Given the description of an element on the screen output the (x, y) to click on. 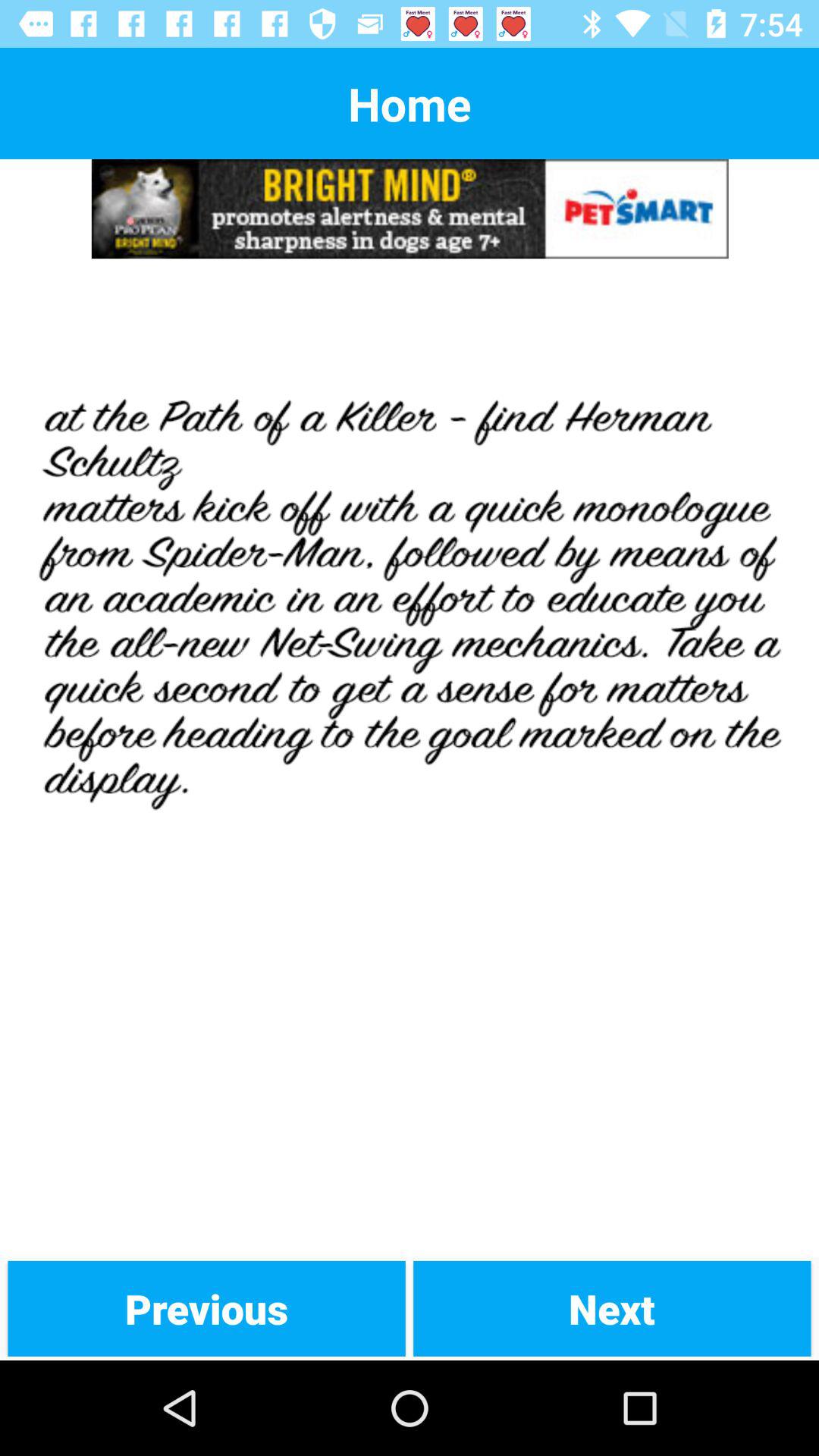
open 'petsmart advertisement (409, 208)
